Given the description of an element on the screen output the (x, y) to click on. 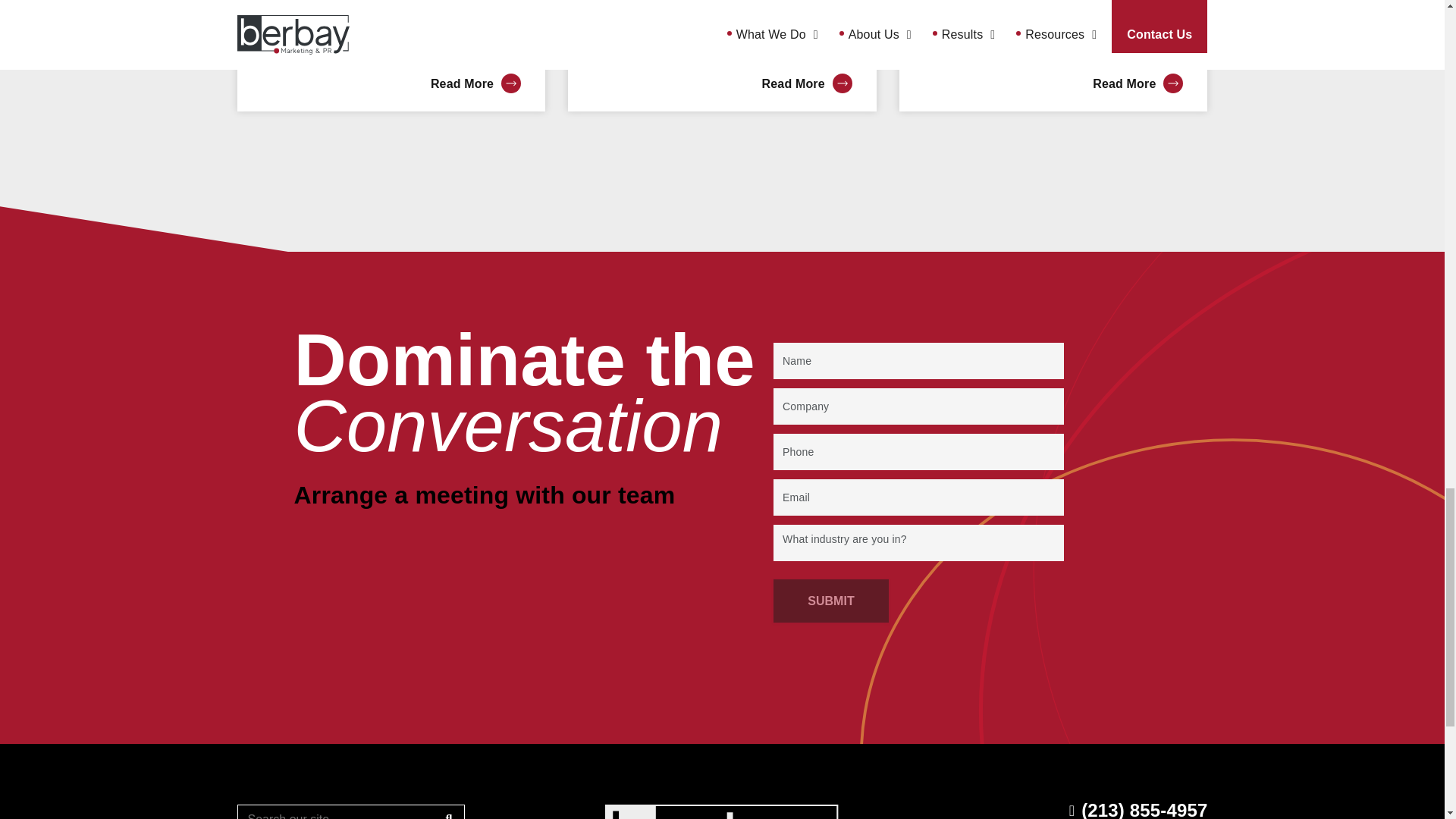
Submit (830, 600)
